Given the description of an element on the screen output the (x, y) to click on. 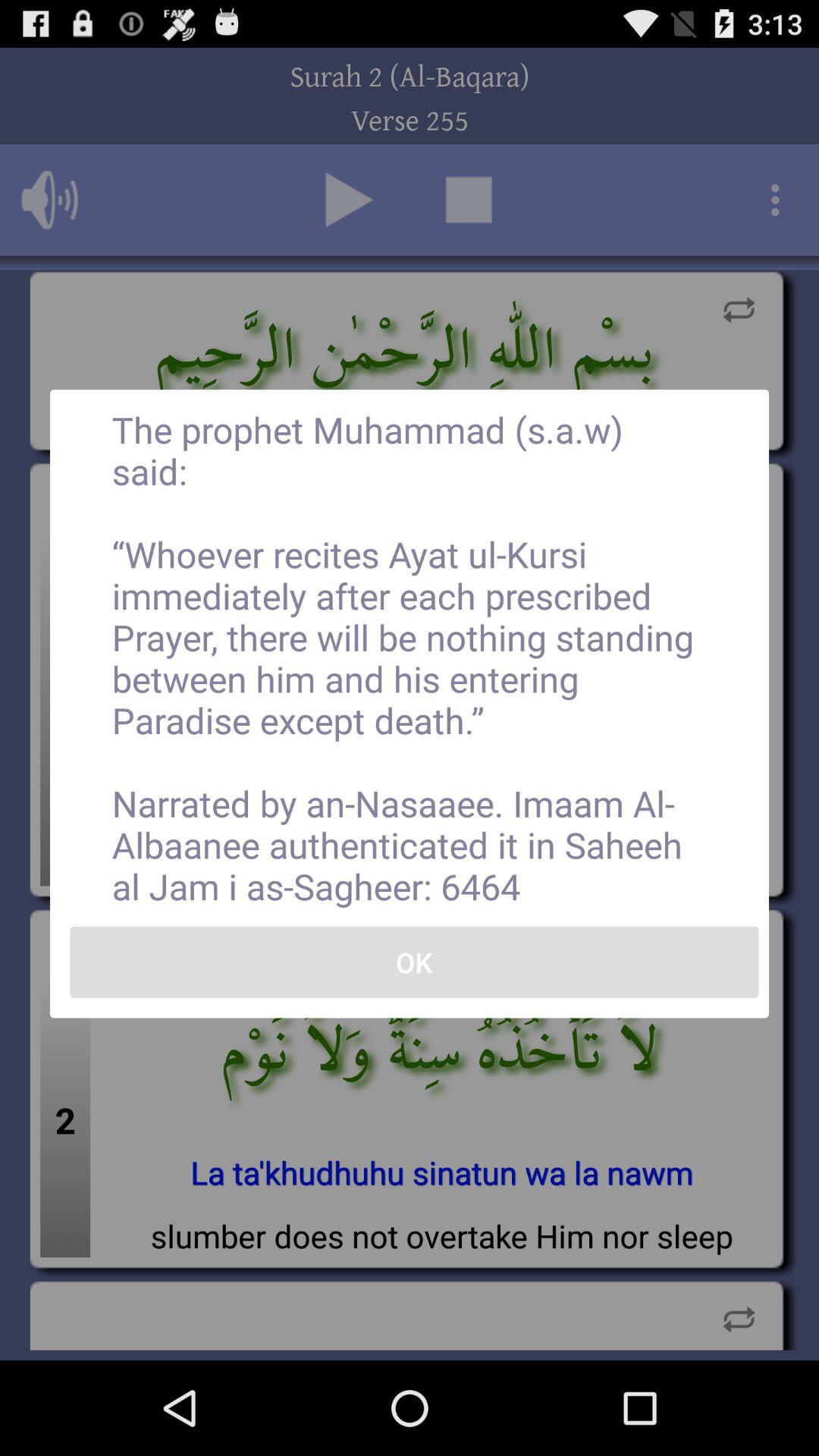
flip until the the prophet muhammad icon (409, 657)
